Given the description of an element on the screen output the (x, y) to click on. 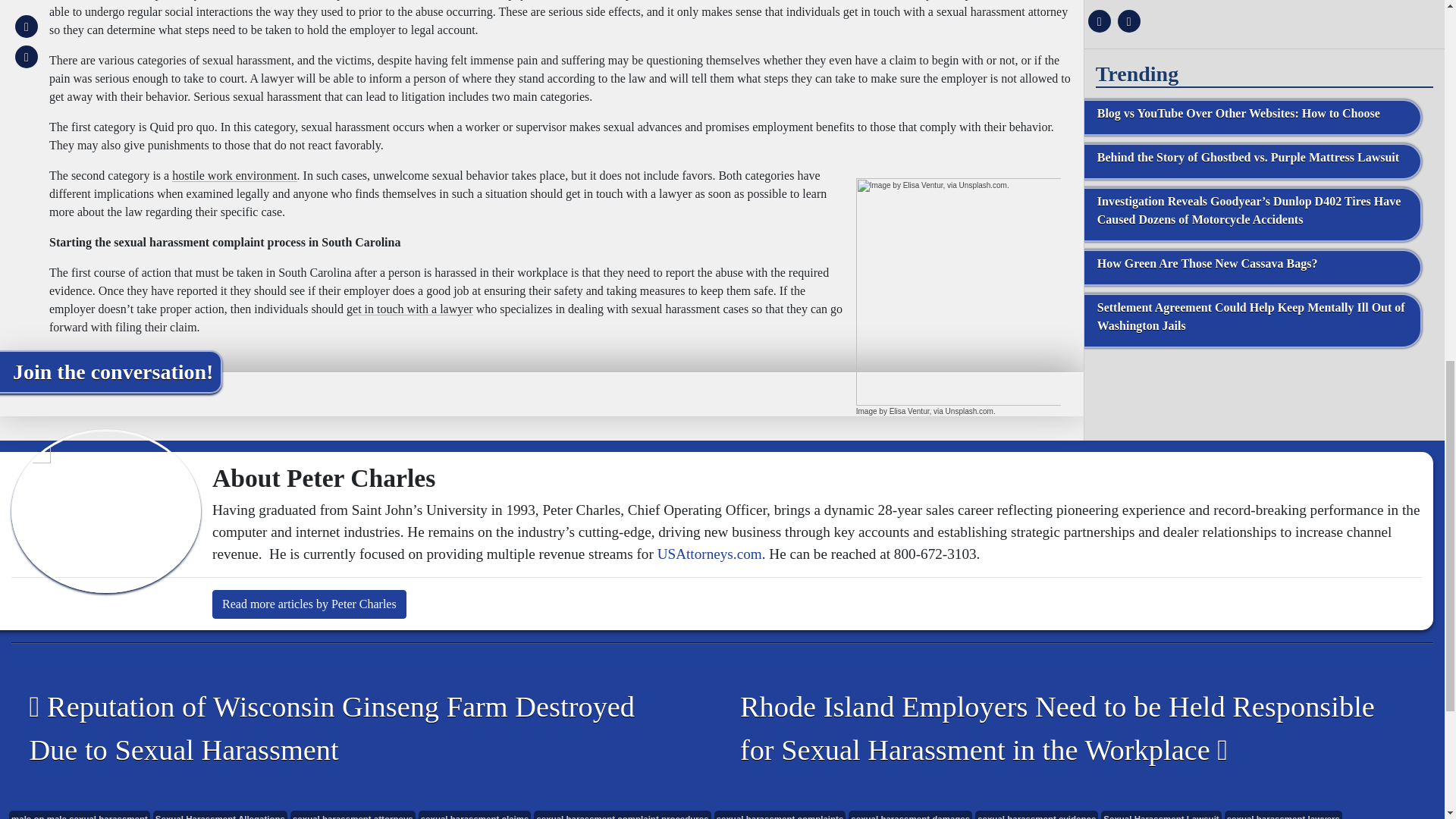
hostile work environment (234, 174)
sexual harassment complaint procedures (622, 814)
USAttorneys.com (709, 553)
sexual harassment damages (910, 814)
sexual harassment evidence (1036, 814)
sexual harassment claims (475, 814)
sexual harassment complaints (779, 814)
Sexual Harassment Allegations (219, 814)
male on male sexual harassment (78, 814)
sexual harassment attorneys (351, 814)
Read more articles by Peter Charles (309, 604)
Read more articles by Peter Charles (309, 604)
get in touch with a lawyer (409, 308)
